Given the description of an element on the screen output the (x, y) to click on. 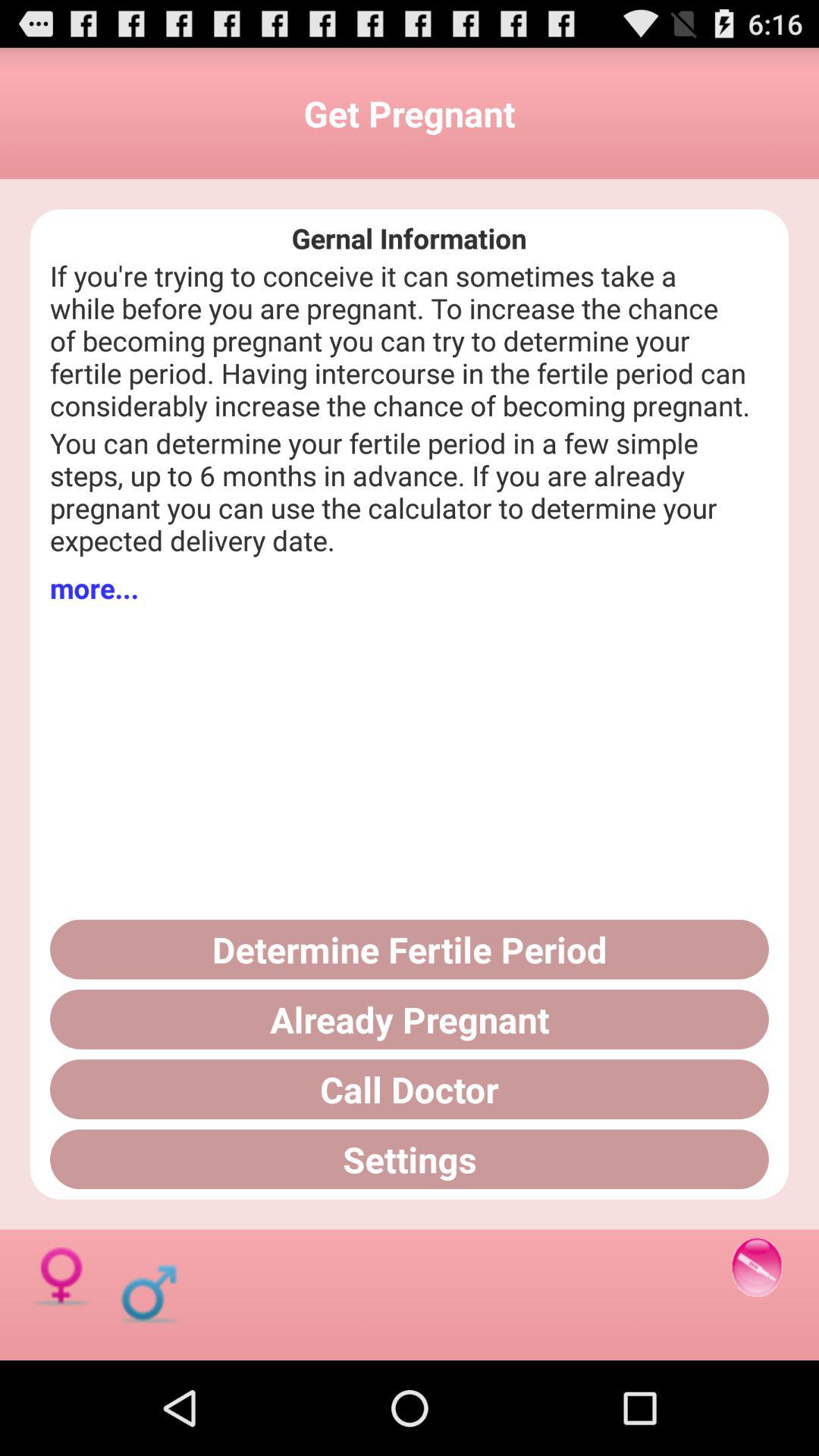
open the call doctor button (409, 1089)
